Given the description of an element on the screen output the (x, y) to click on. 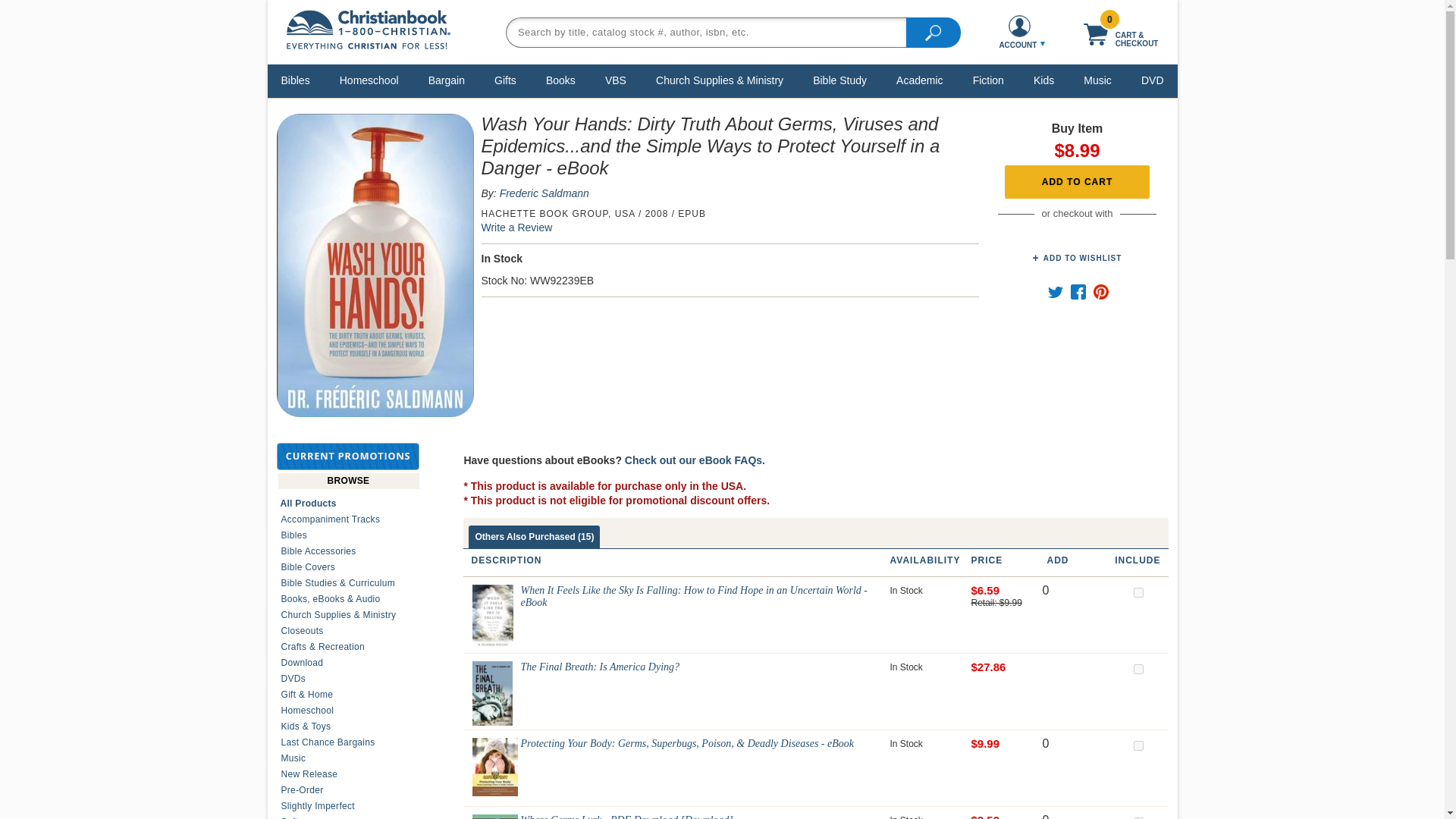
Add To Wishlist (1077, 258)
Books (560, 79)
Bible Study (840, 79)
86992EB (1137, 746)
DVD (1152, 79)
Bargain (446, 79)
Frederic Saldmann (544, 193)
Bibles (295, 79)
Homeschool (369, 79)
